Given the description of an element on the screen output the (x, y) to click on. 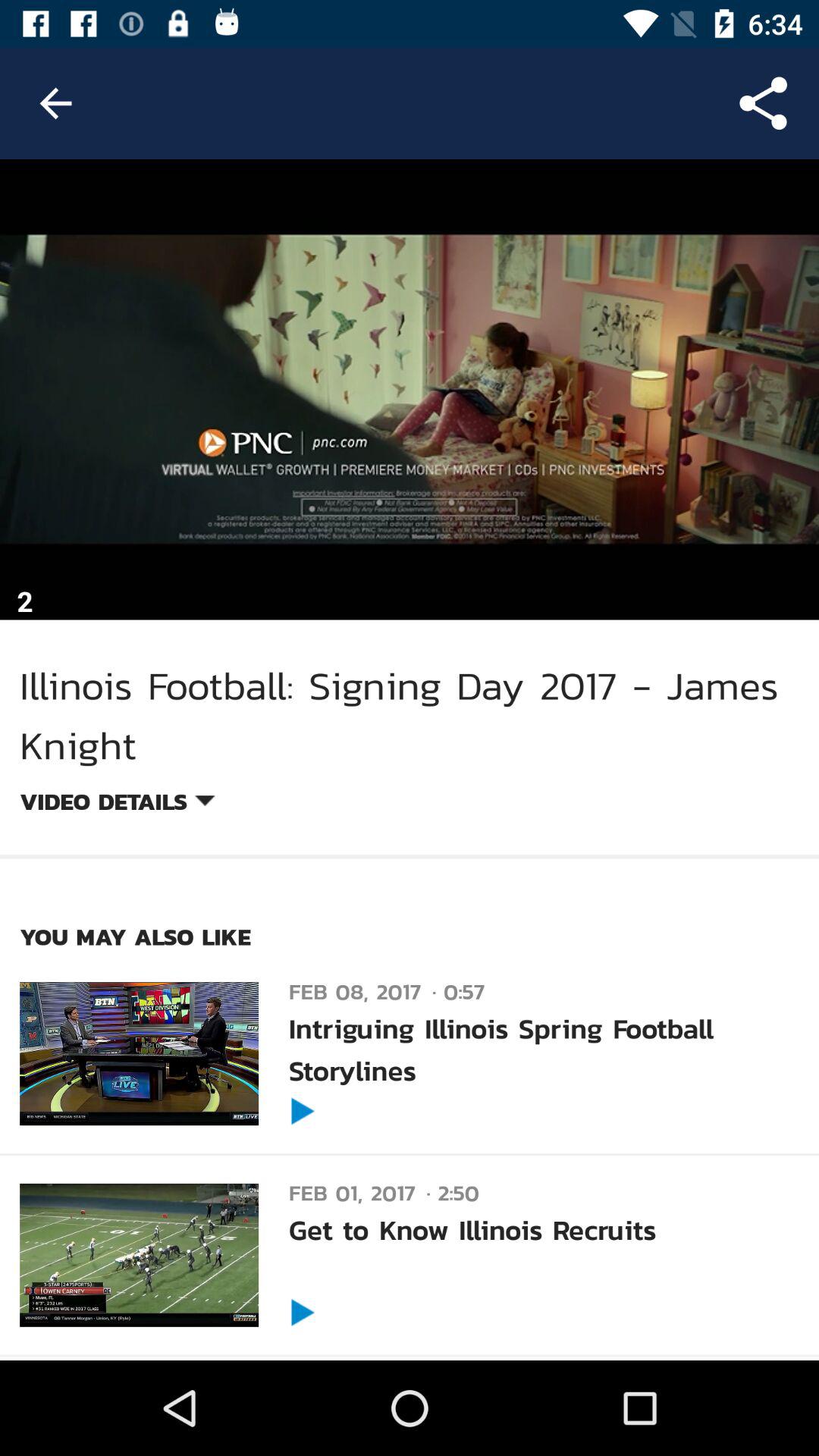
tap item above you may also icon (116, 803)
